Given the description of an element on the screen output the (x, y) to click on. 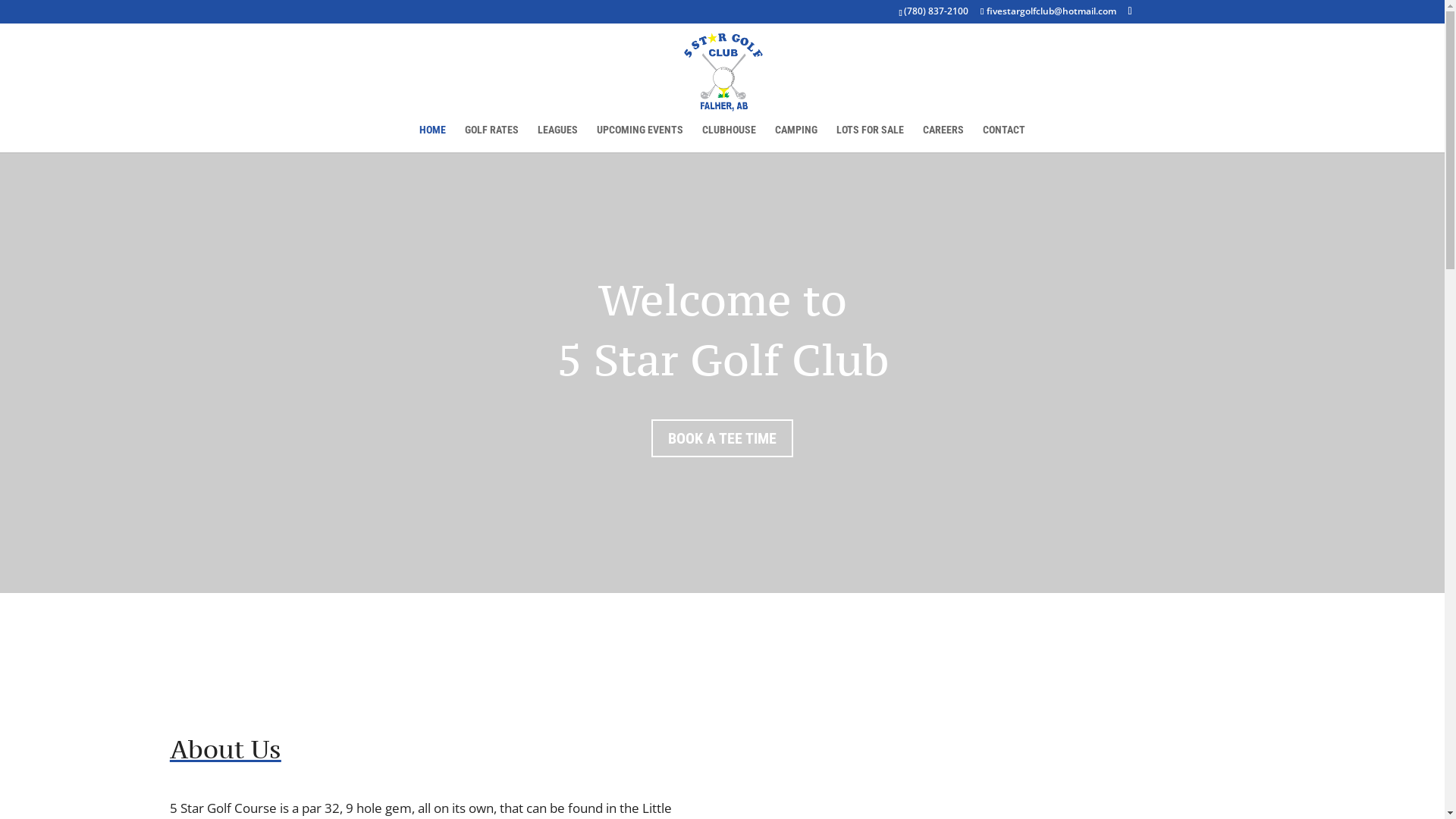
(780) 837-2100 Element type: text (935, 10)
CONTACT Element type: text (1003, 138)
UPCOMING EVENTS Element type: text (639, 138)
BOOK A TEE TIME Element type: text (722, 438)
CLUBHOUSE Element type: text (729, 138)
CAMPING Element type: text (796, 138)
fivestargolfclub@hotmail.com Element type: text (1048, 10)
GOLF RATES Element type: text (491, 138)
HOME Element type: text (432, 138)
CAREERS Element type: text (942, 138)
LOTS FOR SALE Element type: text (869, 138)
LEAGUES Element type: text (557, 138)
